Given the description of an element on the screen output the (x, y) to click on. 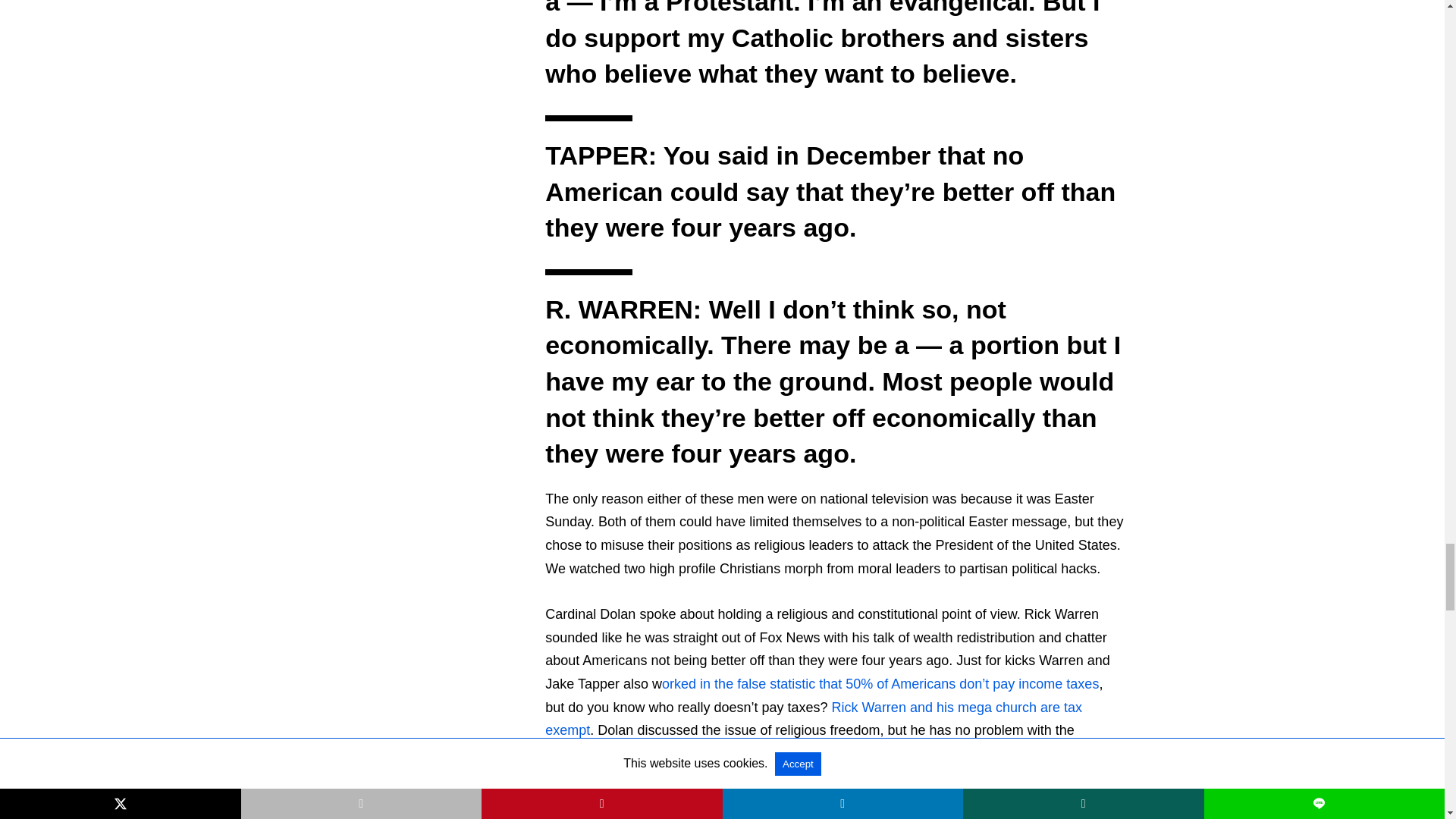
Rick Warren and his mega church are tax exempt (812, 719)
